Given the description of an element on the screen output the (x, y) to click on. 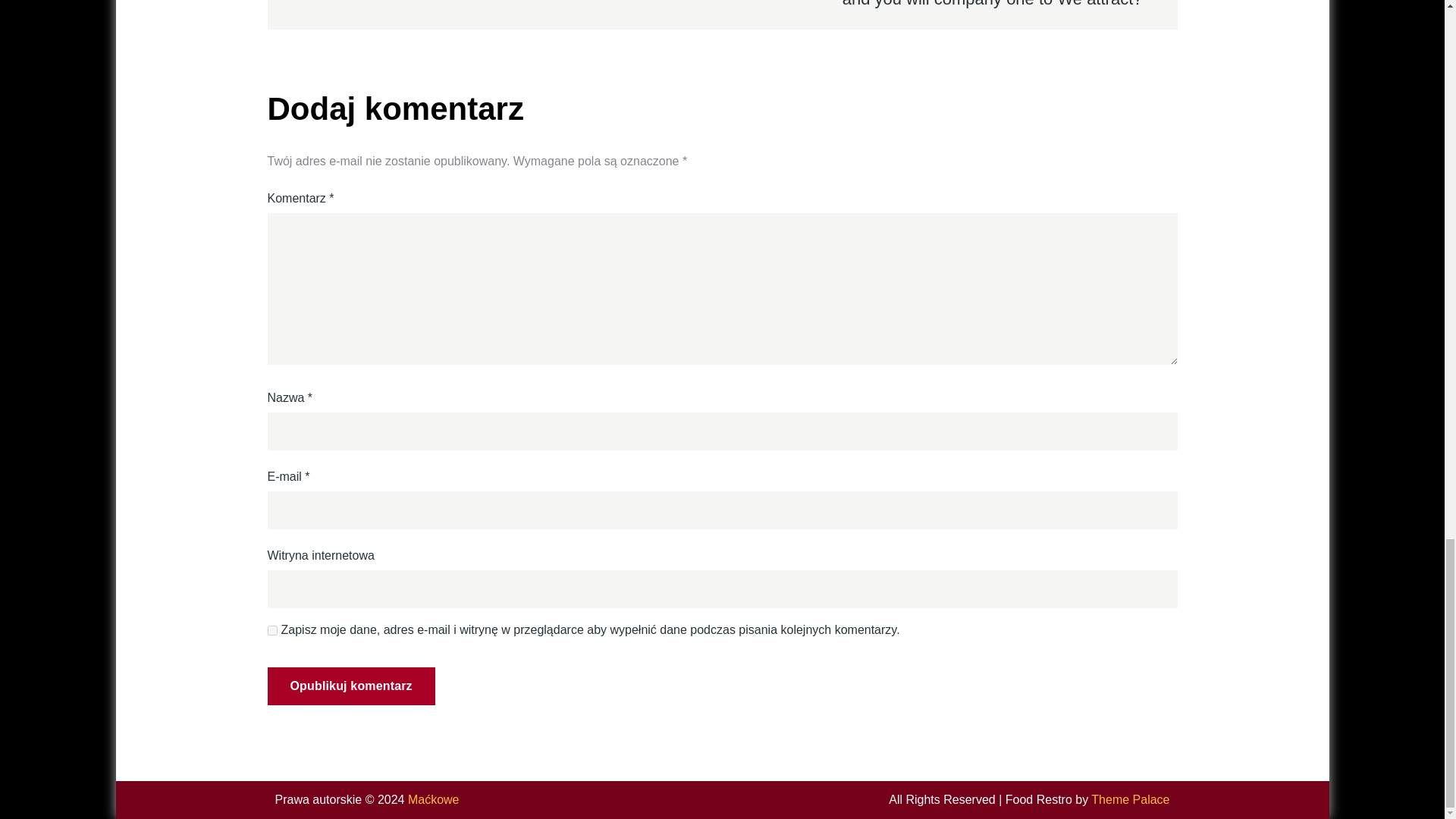
Opublikuj komentarz (349, 686)
Opublikuj komentarz (349, 686)
Theme Palace (1129, 799)
yes (271, 630)
